Given the description of an element on the screen output the (x, y) to click on. 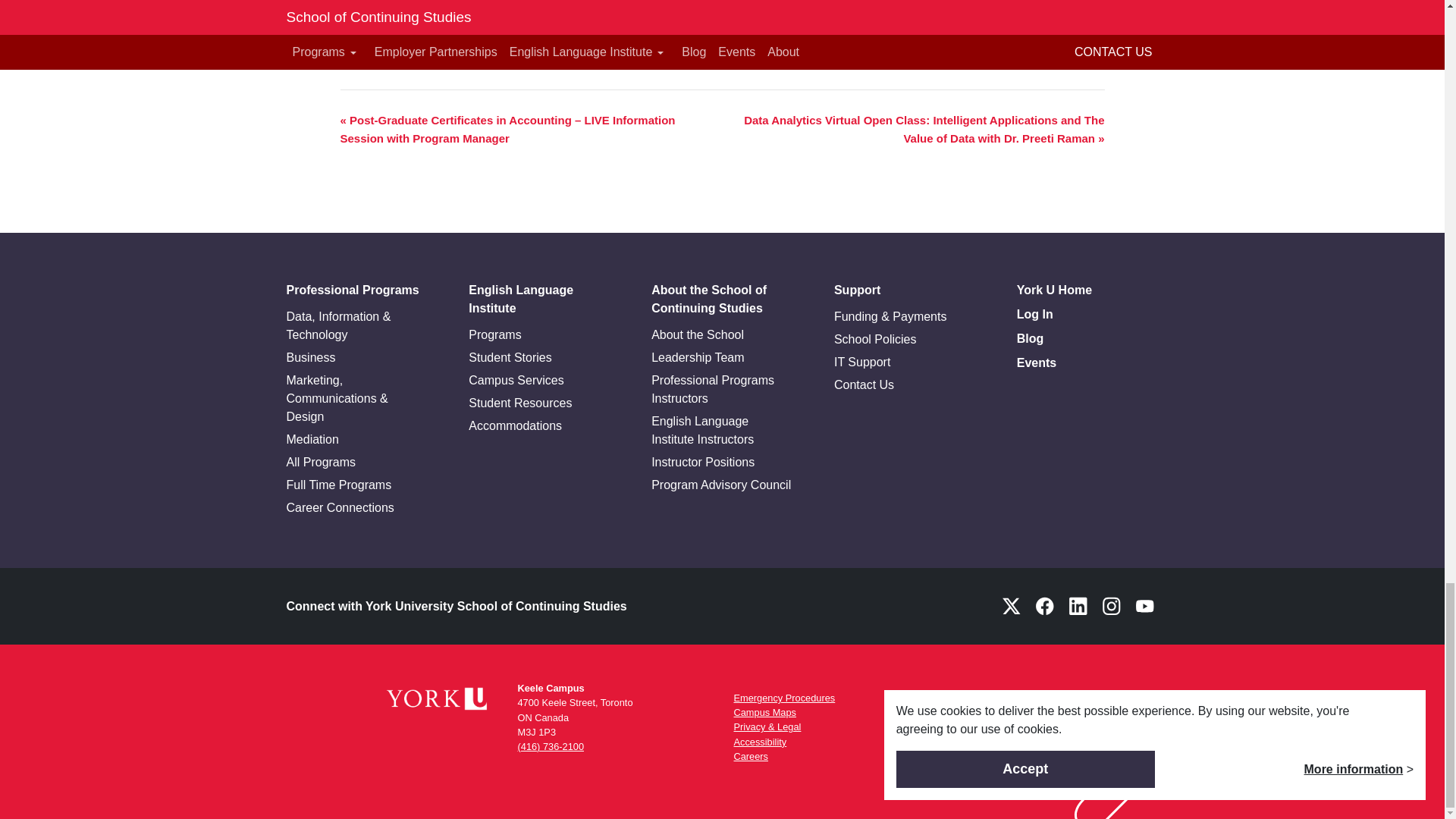
Twitter (1011, 605)
Facebook (1044, 605)
LinkedIn (1078, 605)
YouTube (1144, 605)
Instagram (1111, 605)
